Given the description of an element on the screen output the (x, y) to click on. 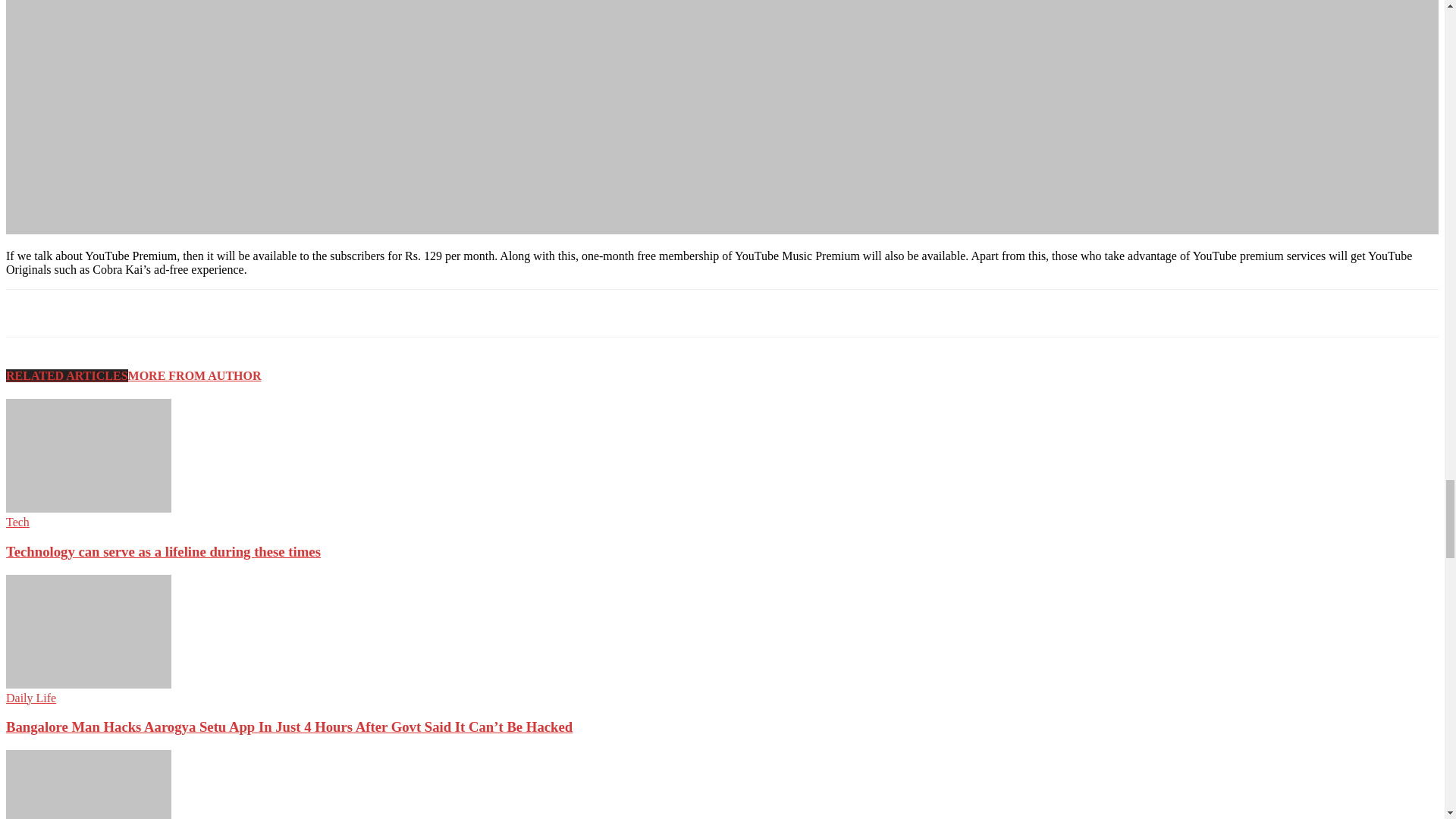
bottomFacebookLike (118, 313)
Technology can serve as a lifeline during these times (88, 455)
Technology can serve as a lifeline during these times (88, 508)
